Given the description of an element on the screen output the (x, y) to click on. 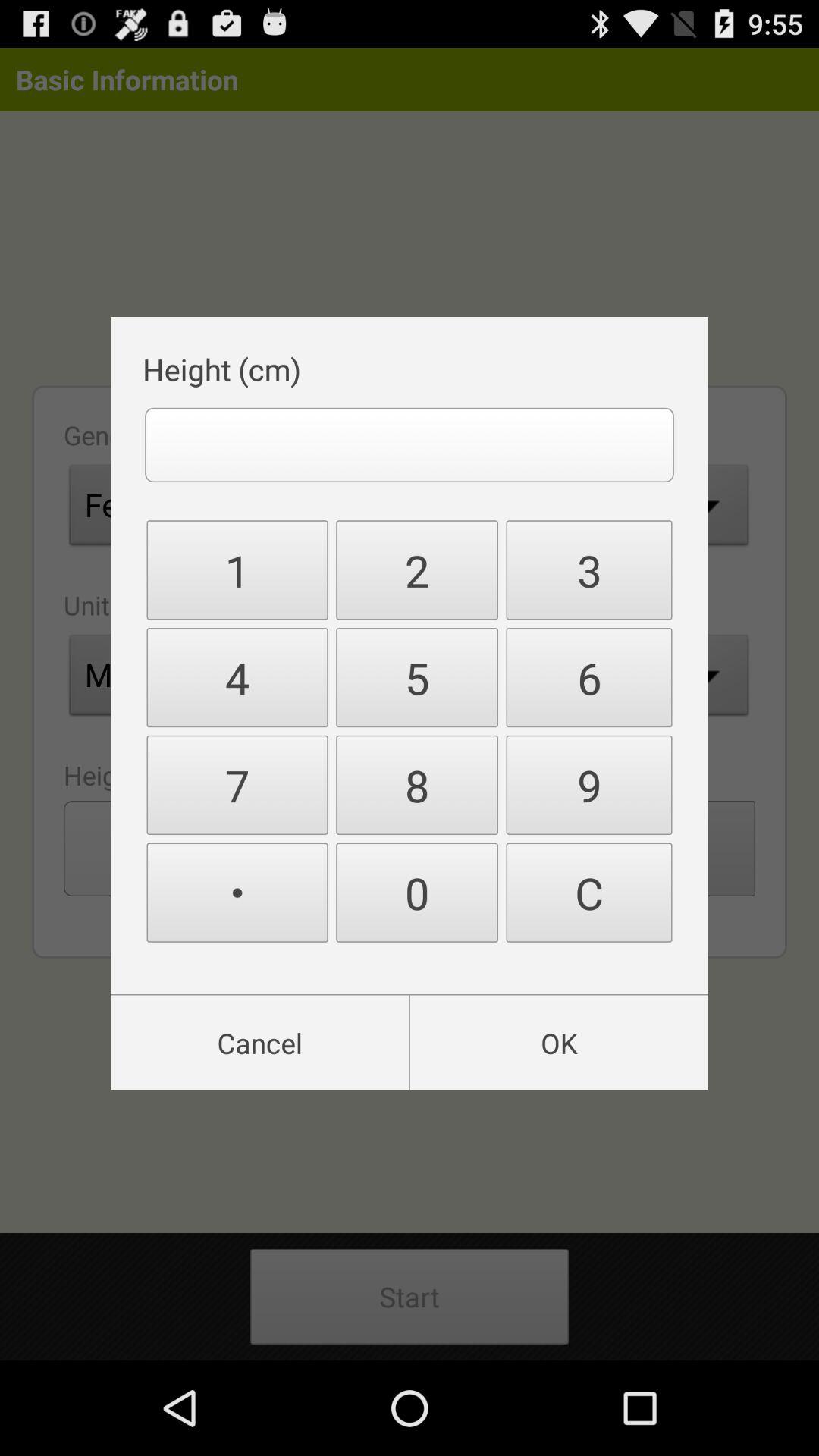
turn on item below the 7 item (237, 892)
